Given the description of an element on the screen output the (x, y) to click on. 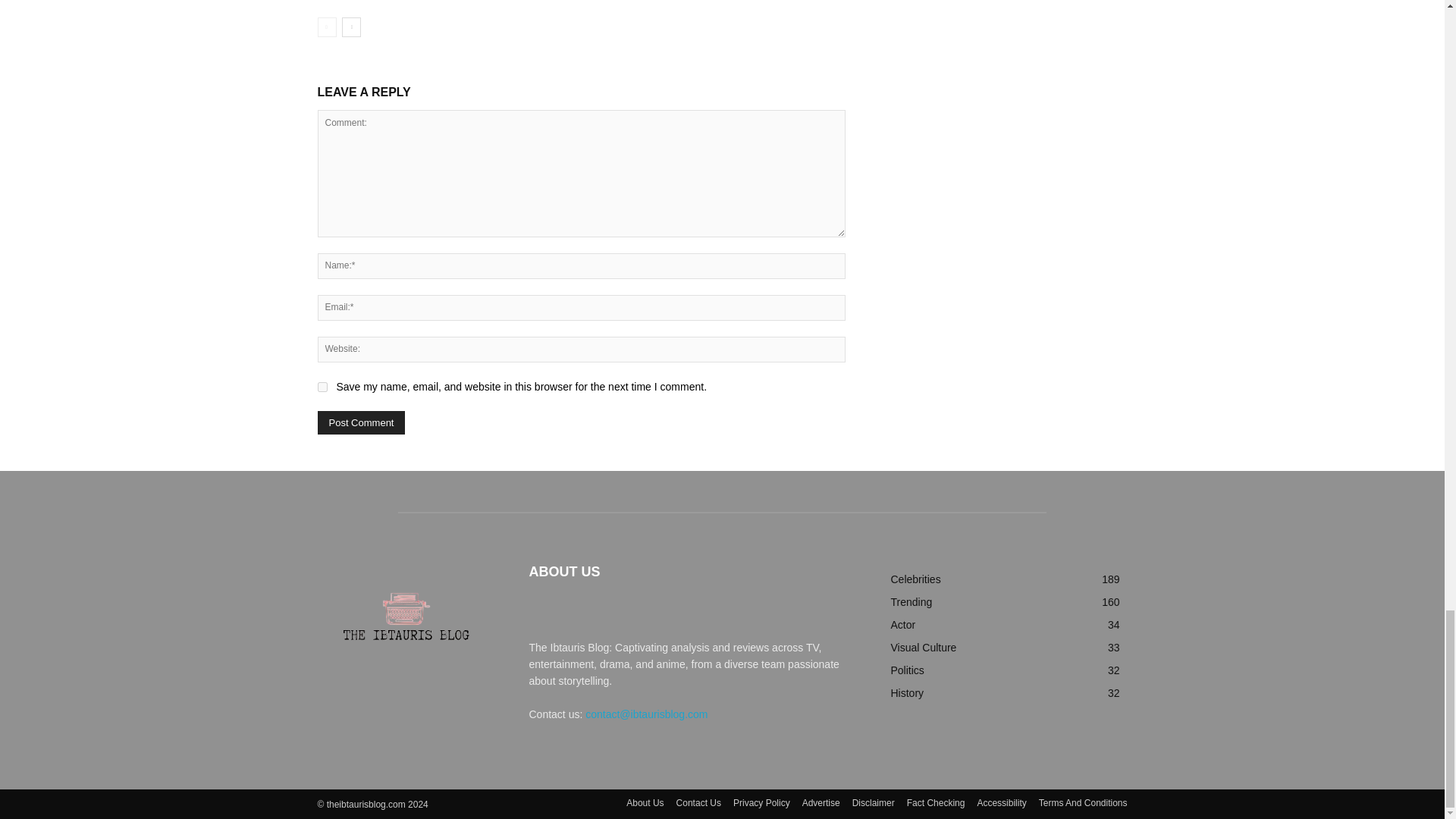
Post Comment (360, 422)
yes (321, 387)
